Given the description of an element on the screen output the (x, y) to click on. 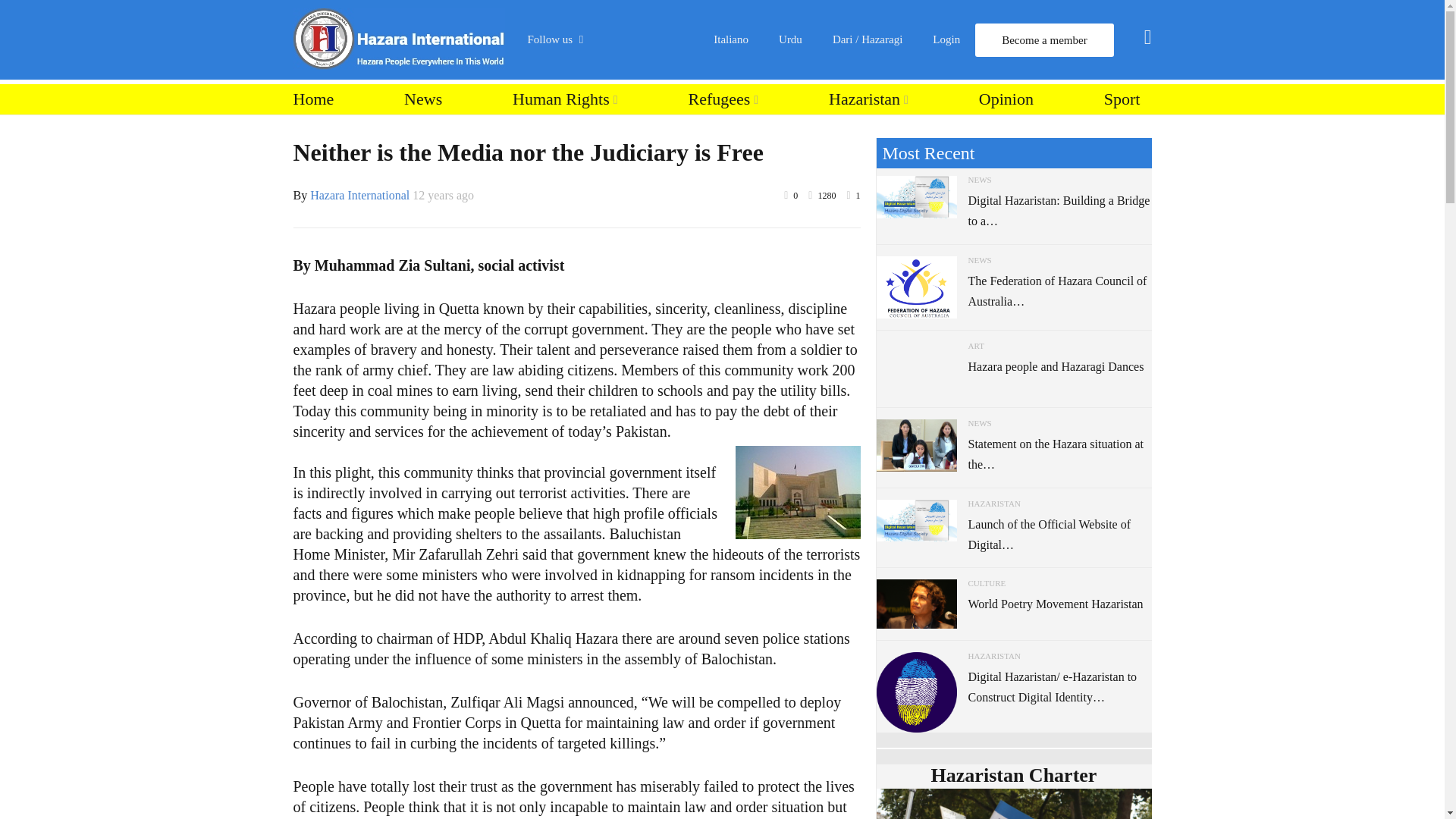
Follow us on YouTube (614, 175)
Follow us on Instagram (614, 214)
Italiano (730, 39)
View all posts in News (979, 259)
Follow us on Facebook (614, 98)
7 (797, 491)
Follow us on YouTube (614, 175)
Follow us on Facebook (614, 98)
Follow us on Instagram (614, 214)
View all posts in News (979, 179)
View all posts in Art (976, 345)
Follow us (562, 39)
Login (946, 39)
Urdu (789, 39)
Hazara people and Hazaragi Dances (1056, 366)
